Given the description of an element on the screen output the (x, y) to click on. 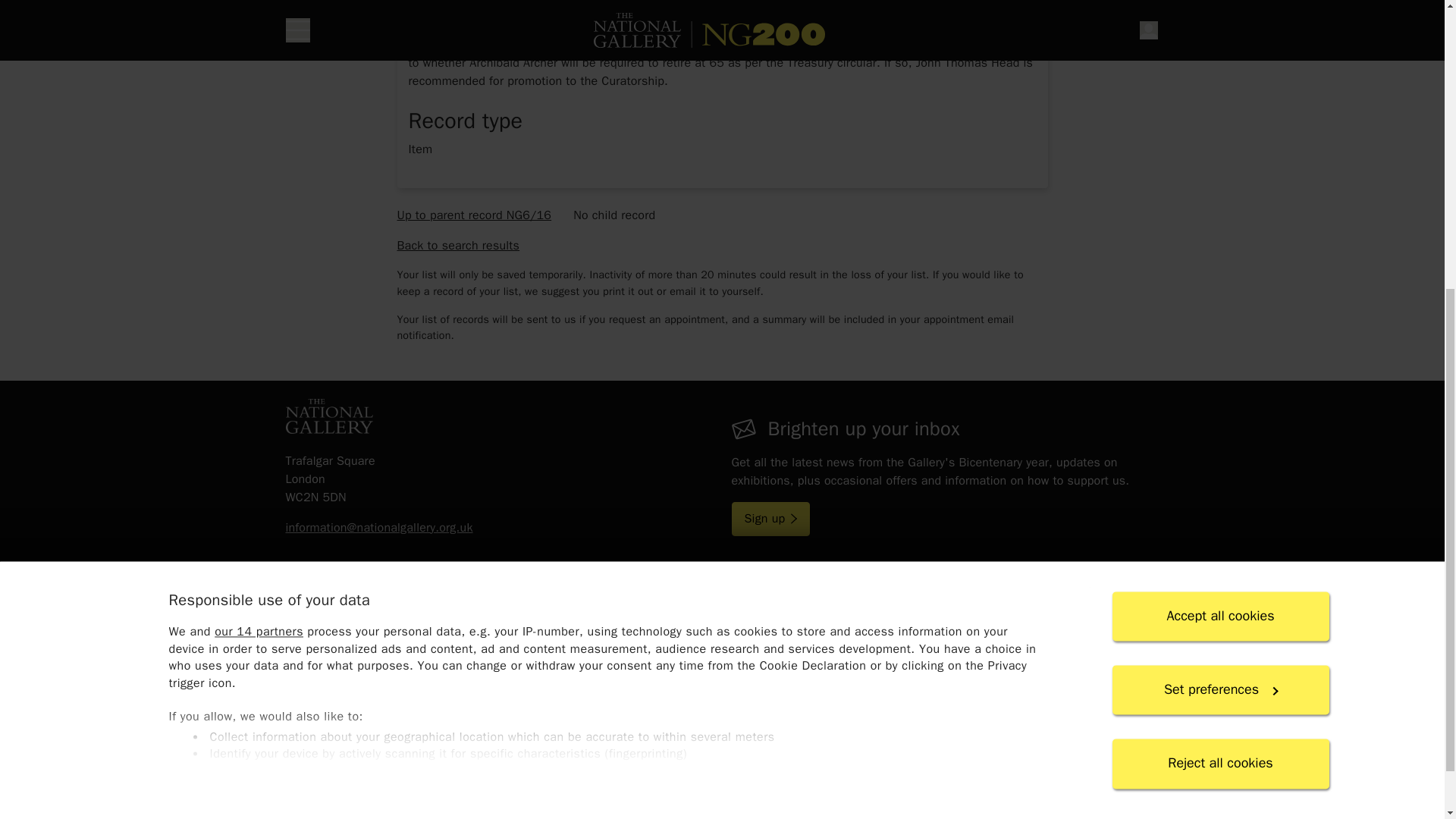
our 14 partners (258, 159)
cookies policy (596, 360)
details section (720, 301)
